Given the description of an element on the screen output the (x, y) to click on. 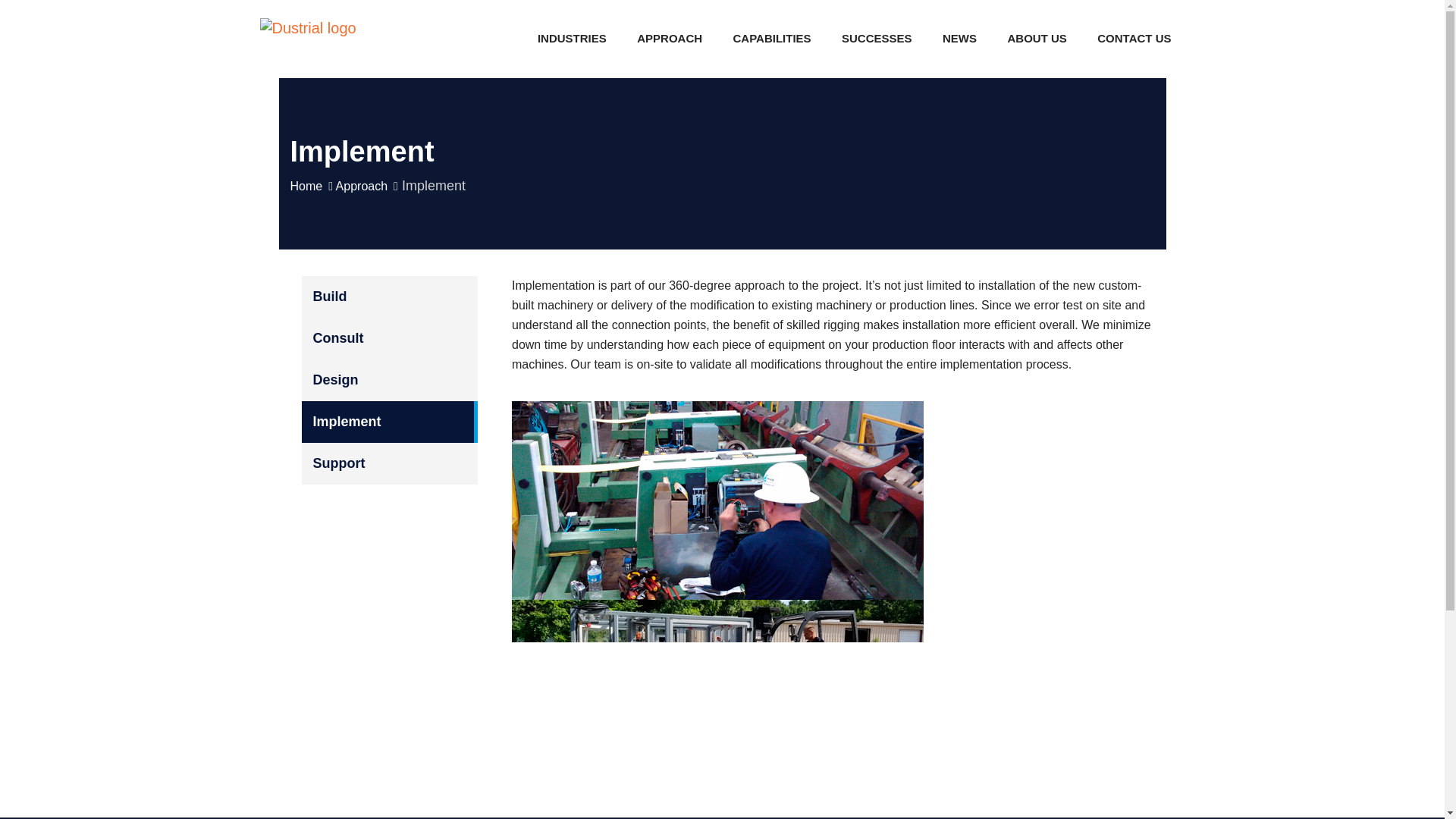
SUCCESSES (877, 37)
APPROACH (669, 37)
INDUSTRIES (572, 37)
Approach (669, 37)
CAPABILITIES (772, 37)
Industries (572, 37)
